Given the description of an element on the screen output the (x, y) to click on. 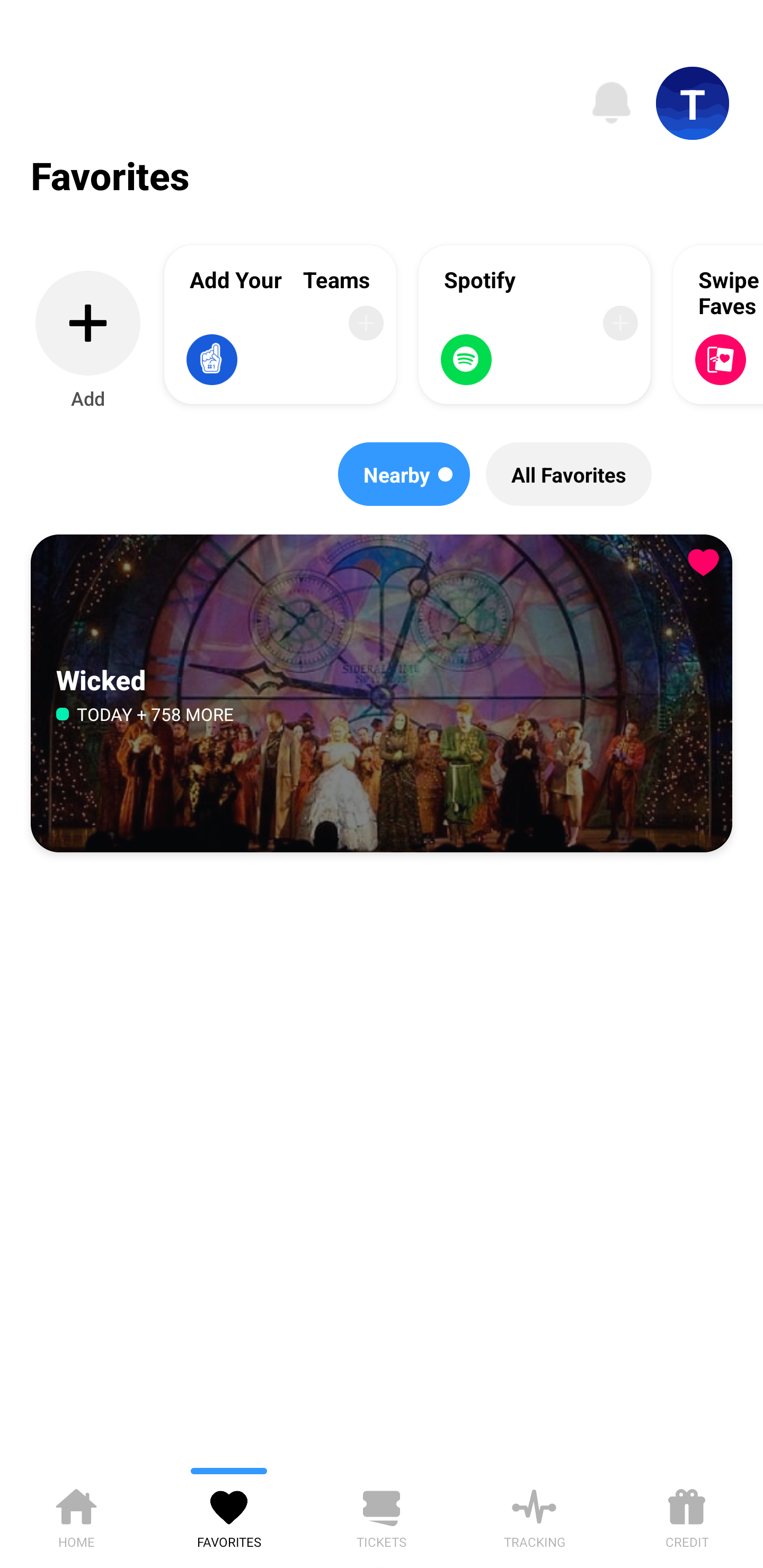
T (692, 103)
Add Your    Teams (279, 324)
Spotify (534, 324)
Add (87, 340)
Nearby (404, 474)
All Favorites (568, 474)
Wicked, TODAY + 758 MORE  Wicked TODAY + 758 MORE  (381, 693)
HOME (76, 1515)
FAVORITES (228, 1515)
TICKETS (381, 1515)
TRACKING (533, 1515)
CREDIT (686, 1515)
